Given the description of an element on the screen output the (x, y) to click on. 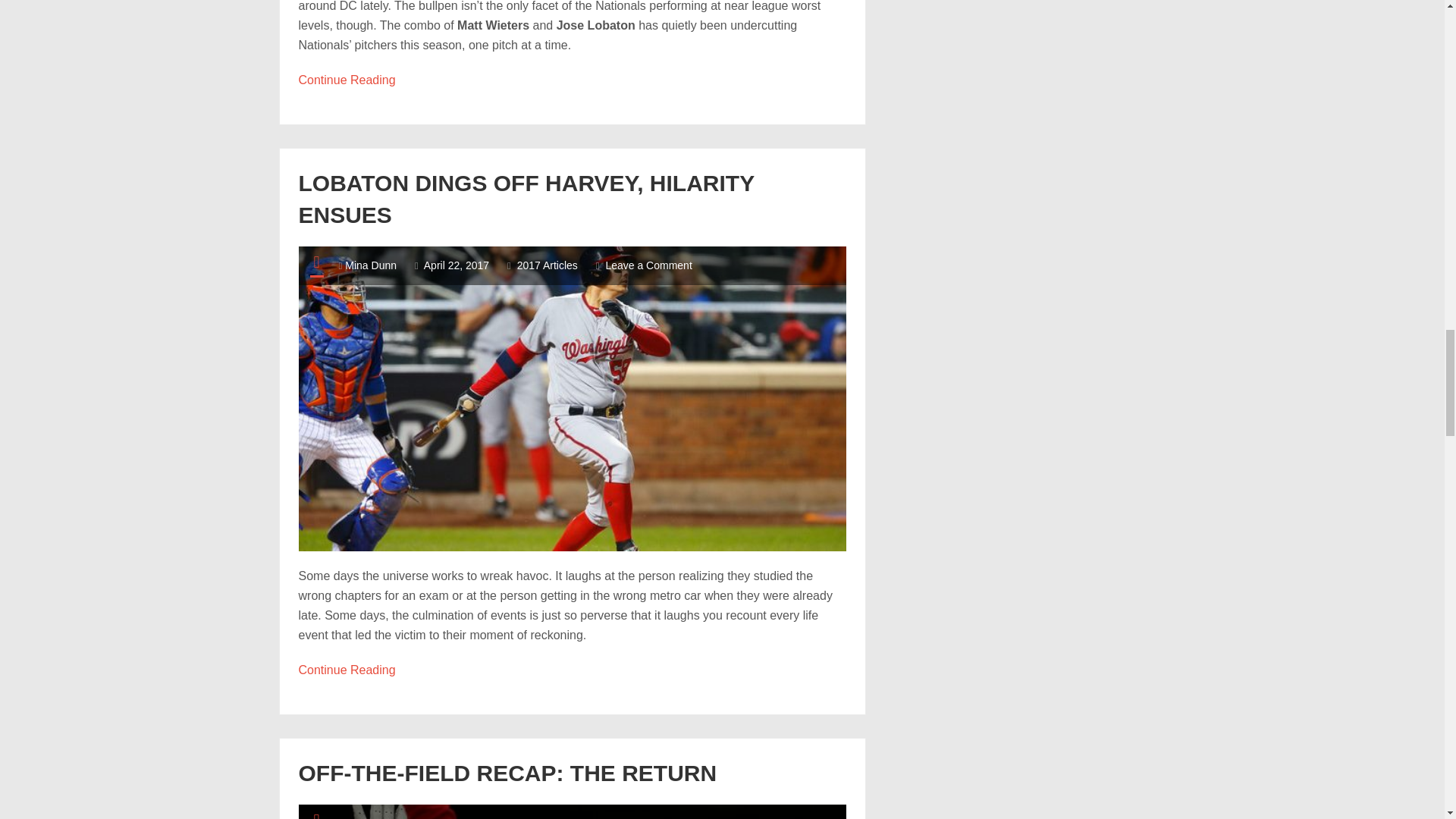
Leave a Comment (648, 265)
OFF-THE-FIELD RECAP: THE RETURN (507, 772)
2017 Articles (547, 818)
Mina Dunn (370, 265)
LOBATON DINGS OFF HARVEY, HILARITY ENSUES (526, 198)
2017 Articles (547, 265)
Mina Dunn (347, 79)
